Given the description of an element on the screen output the (x, y) to click on. 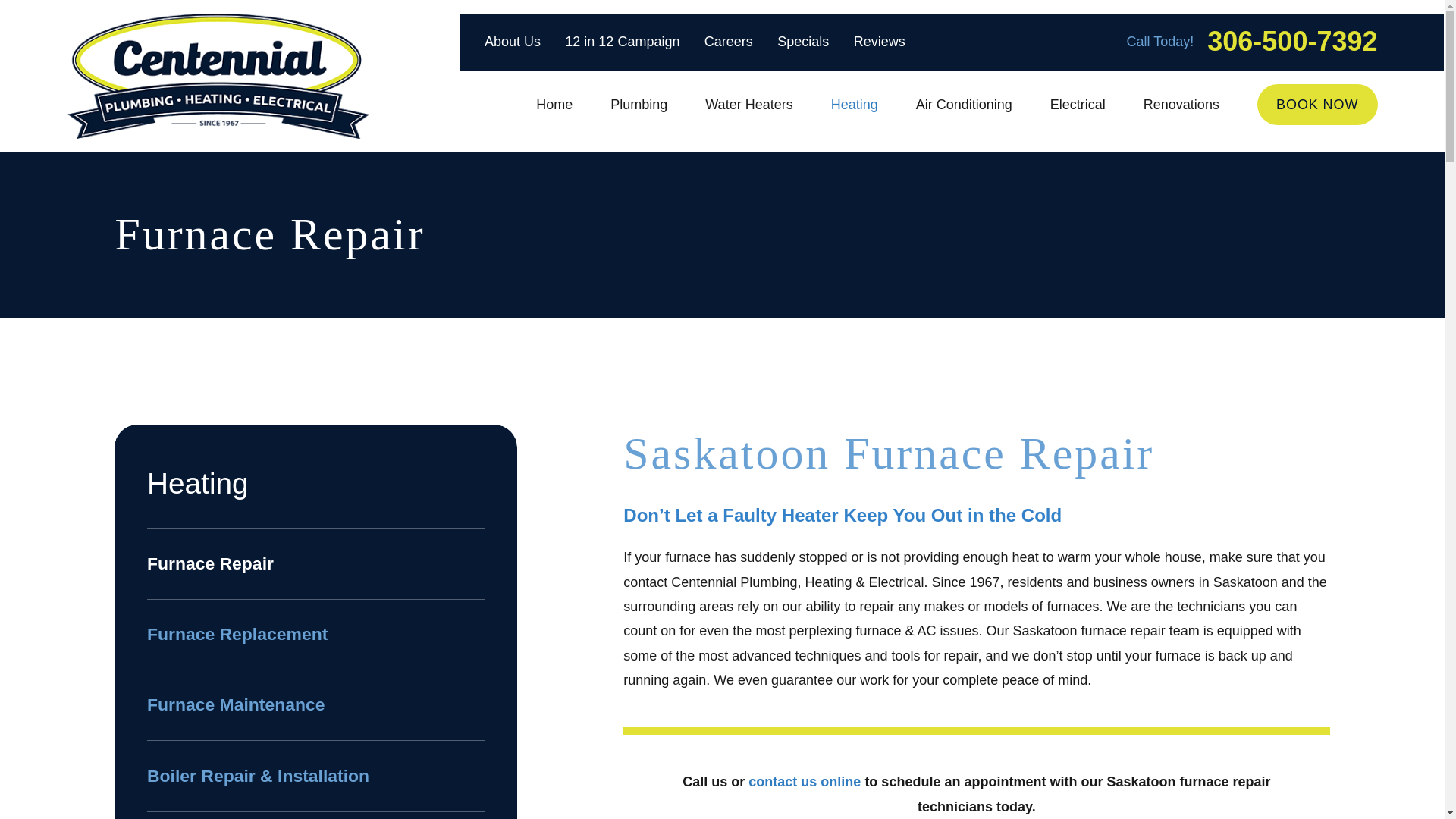
Careers (728, 41)
Home (217, 75)
Water Heaters (748, 104)
Home (553, 104)
About Us (512, 41)
Specials (802, 41)
Air Conditioning (963, 104)
Heating (854, 104)
12 in 12 Campaign (621, 41)
306-500-7392 (1292, 41)
